Given the description of an element on the screen output the (x, y) to click on. 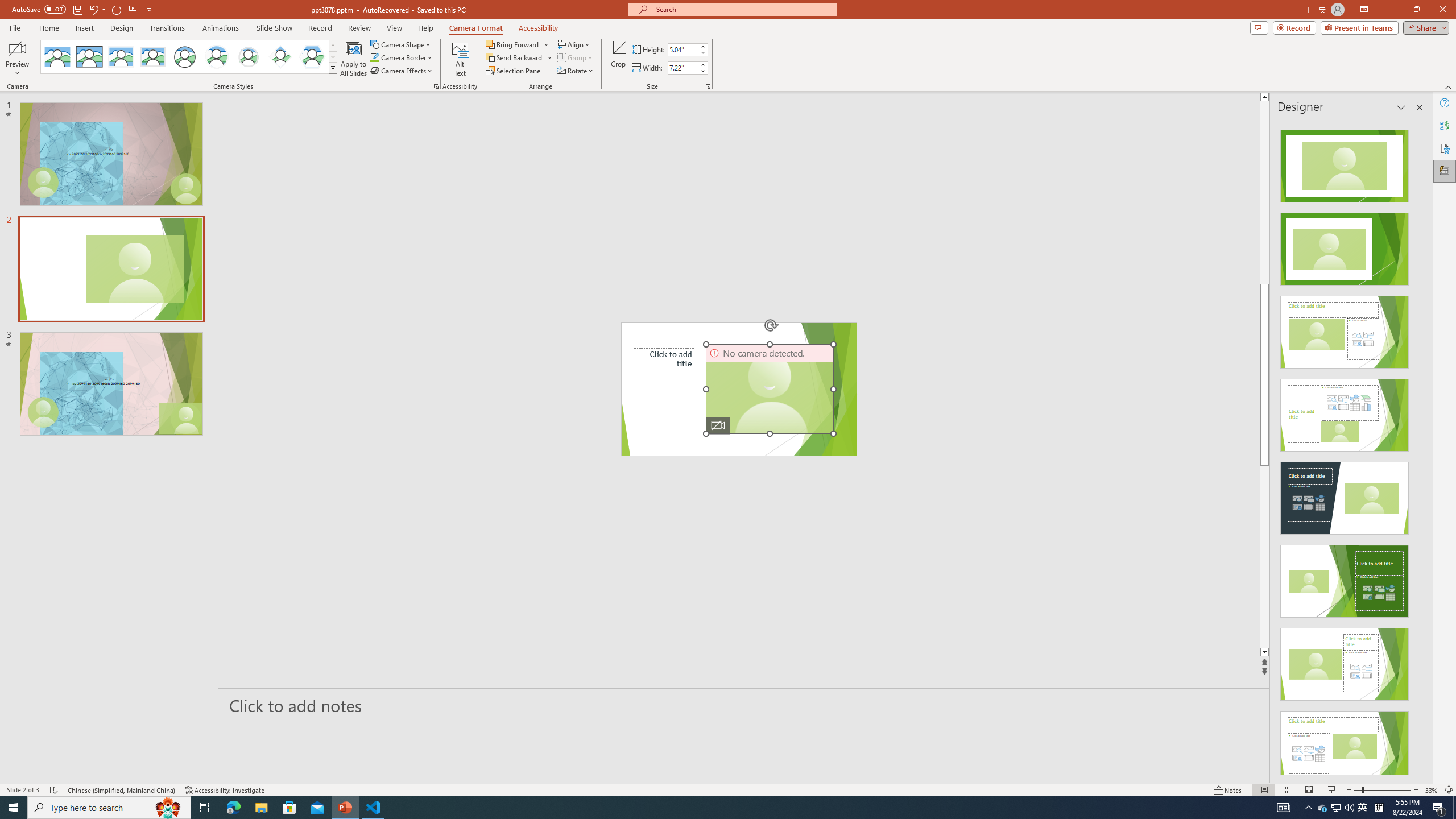
Class: NetUIScrollBar (1418, 447)
Cameo Width (682, 67)
Camera Styles (333, 67)
Bring Forward (517, 44)
Soft Edge Circle (248, 56)
